Given the description of an element on the screen output the (x, y) to click on. 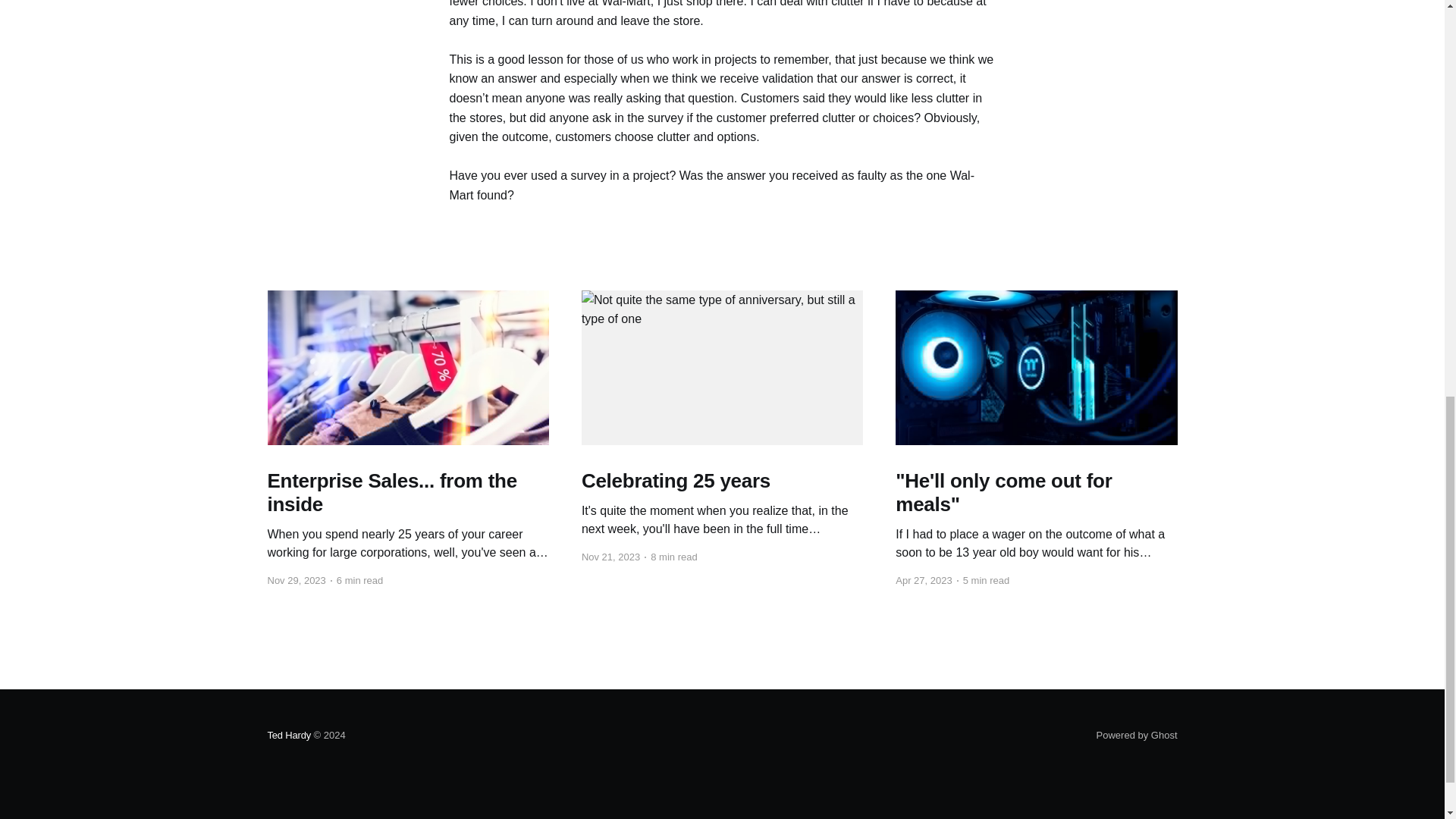
Ted Hardy (288, 735)
Powered by Ghost (1136, 735)
